Given the description of an element on the screen output the (x, y) to click on. 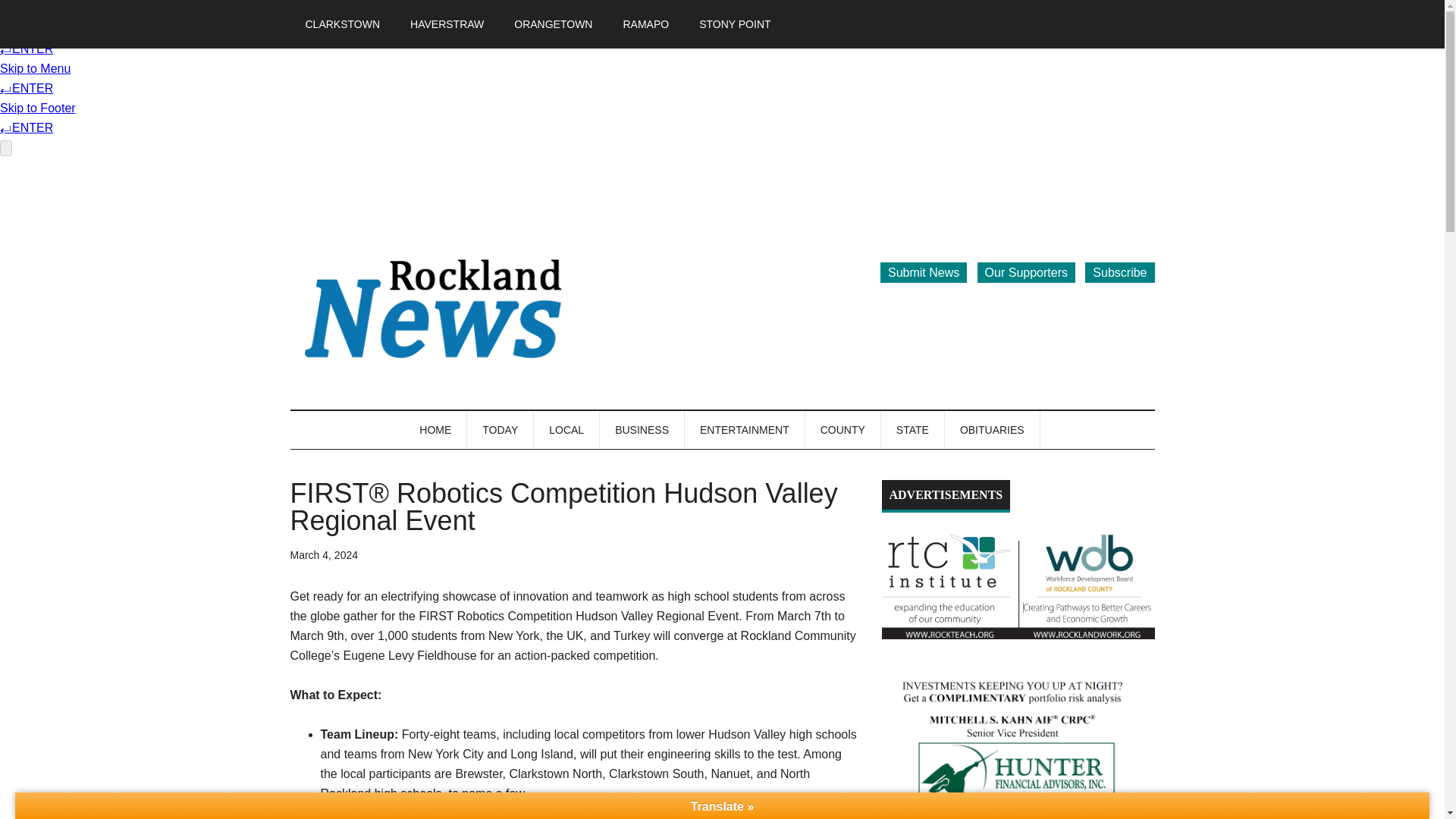
OBITUARIES (992, 429)
STONY POINT (735, 24)
ENTERTAINMENT (744, 429)
Submit News (923, 272)
COUNTY (842, 429)
Our Supporters (1025, 272)
BUSINESS (641, 429)
STATE (912, 429)
RAMAPO (645, 24)
